Given the description of an element on the screen output the (x, y) to click on. 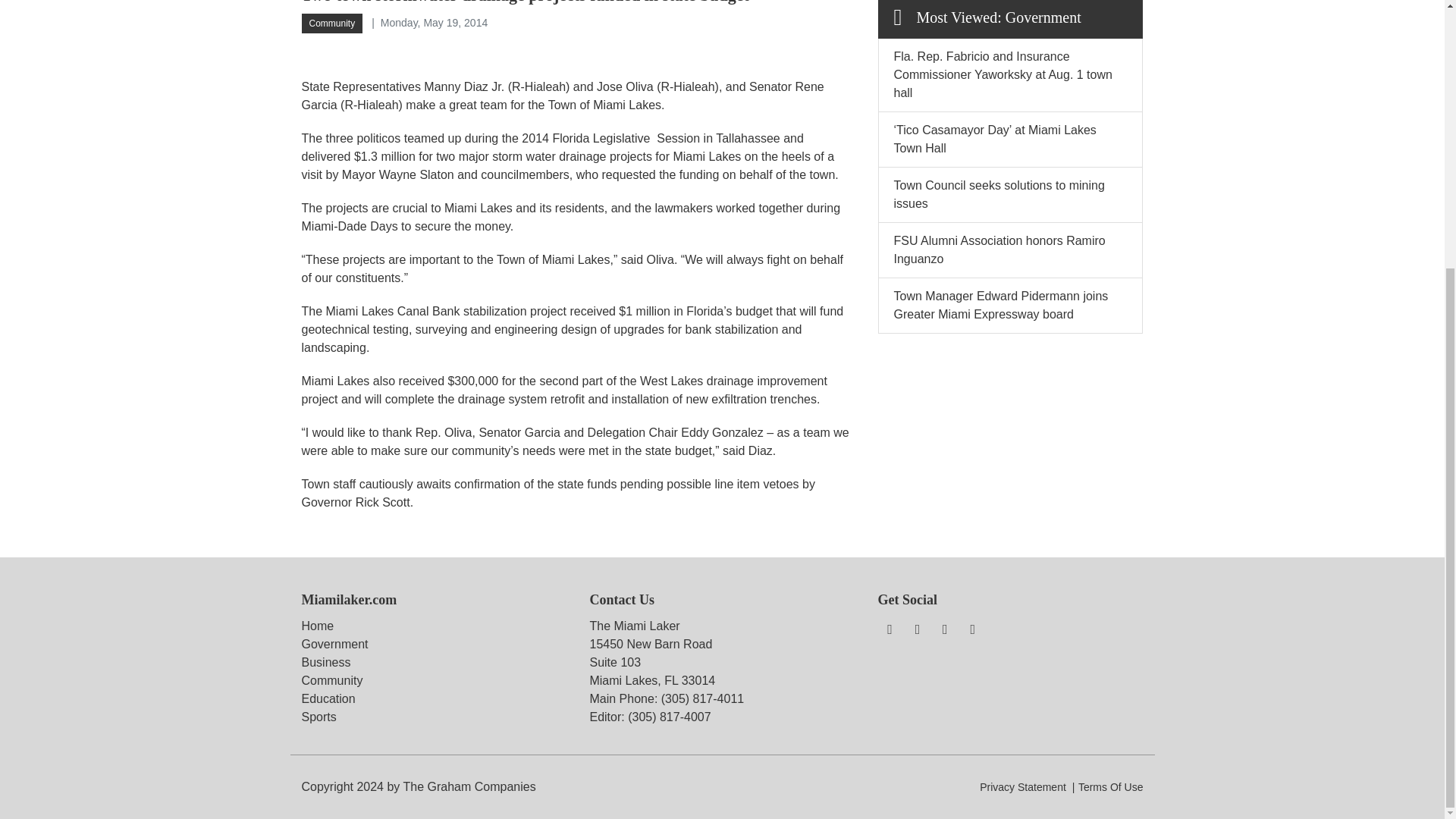
Sports (318, 716)
Connect with us on Twitter (917, 629)
Education (328, 698)
Government (334, 644)
Twitter (917, 629)
Community (331, 680)
Connect with us on Instagram (944, 629)
FSU Alumni Association honors Ramiro Inguanzo (999, 249)
Sign up for our Newsletter (972, 629)
Town Council seeks solutions to mining issues (998, 194)
Business (325, 662)
Connect with us on Facebook (889, 629)
Facebook (889, 629)
